Given the description of an element on the screen output the (x, y) to click on. 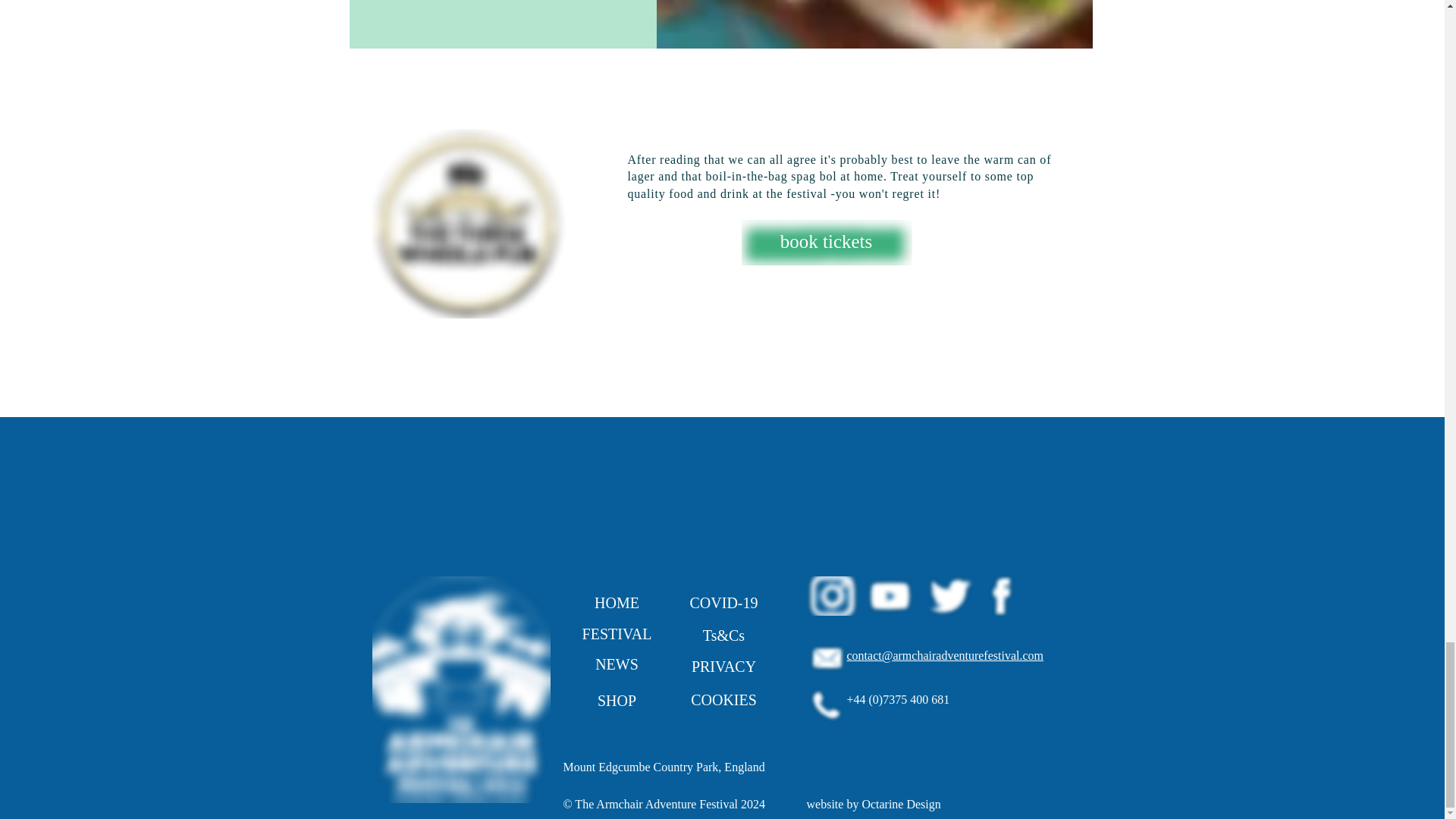
FESTIVAL (615, 634)
SHOP (615, 700)
HOME (615, 603)
book tickets (826, 240)
NEWS (615, 664)
COOKIES (723, 699)
COVID-19 (723, 603)
PRIVACY (723, 666)
